Given the description of an element on the screen output the (x, y) to click on. 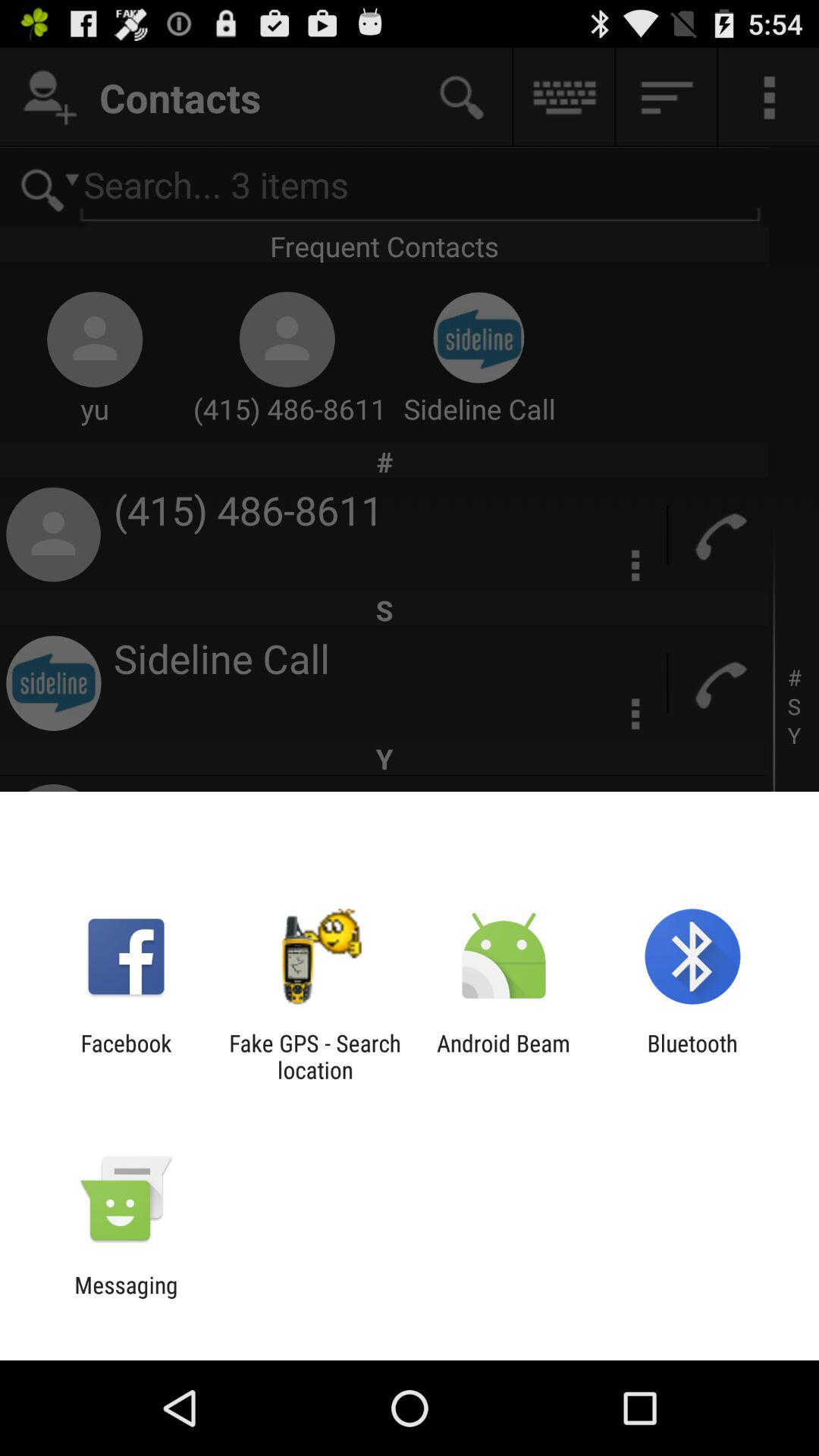
swipe until facebook item (125, 1056)
